Given the description of an element on the screen output the (x, y) to click on. 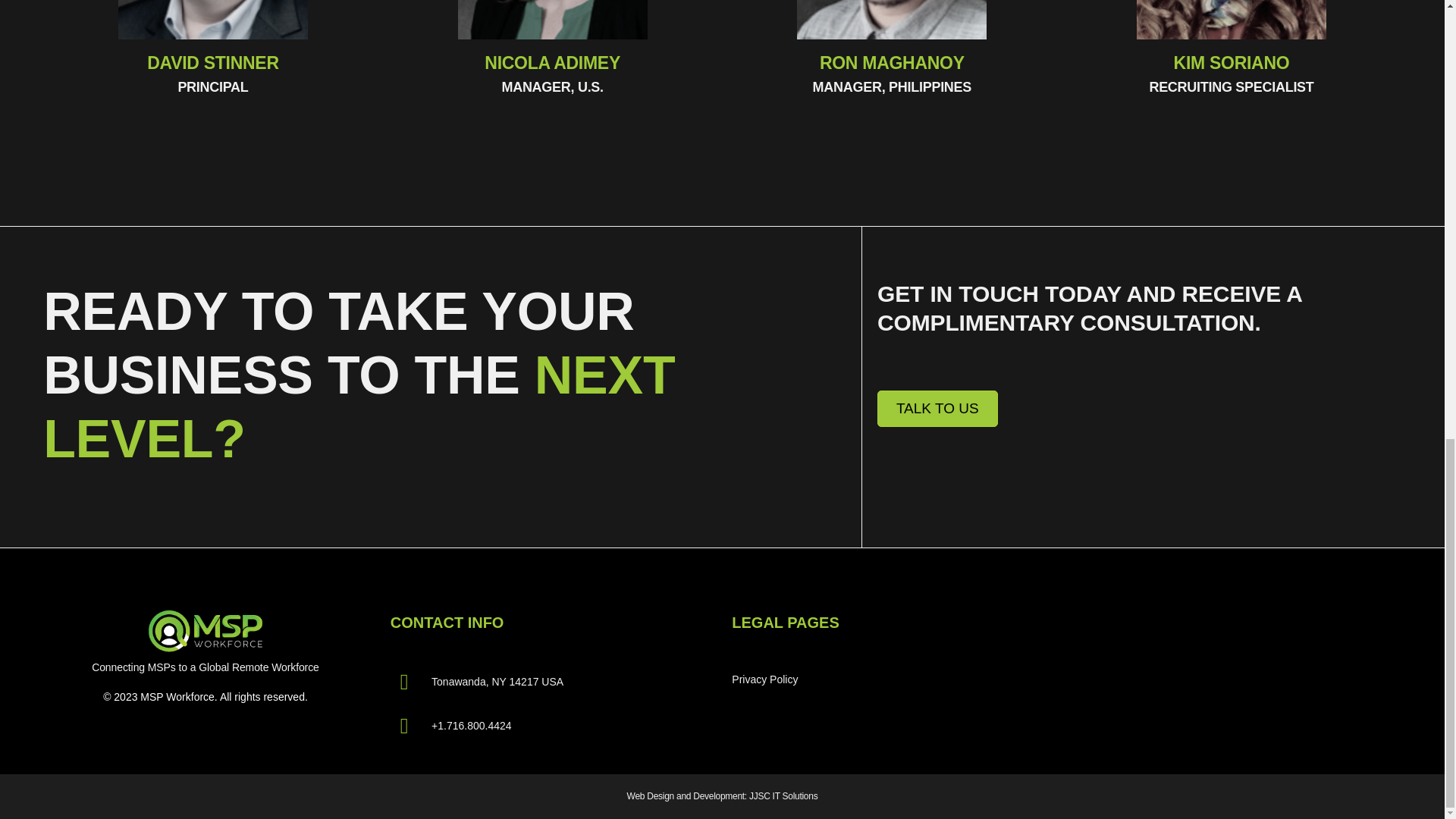
TALK TO US (937, 408)
Web Design and Development: JJSC IT Solutions (722, 796)
Privacy Policy (860, 679)
